Given the description of an element on the screen output the (x, y) to click on. 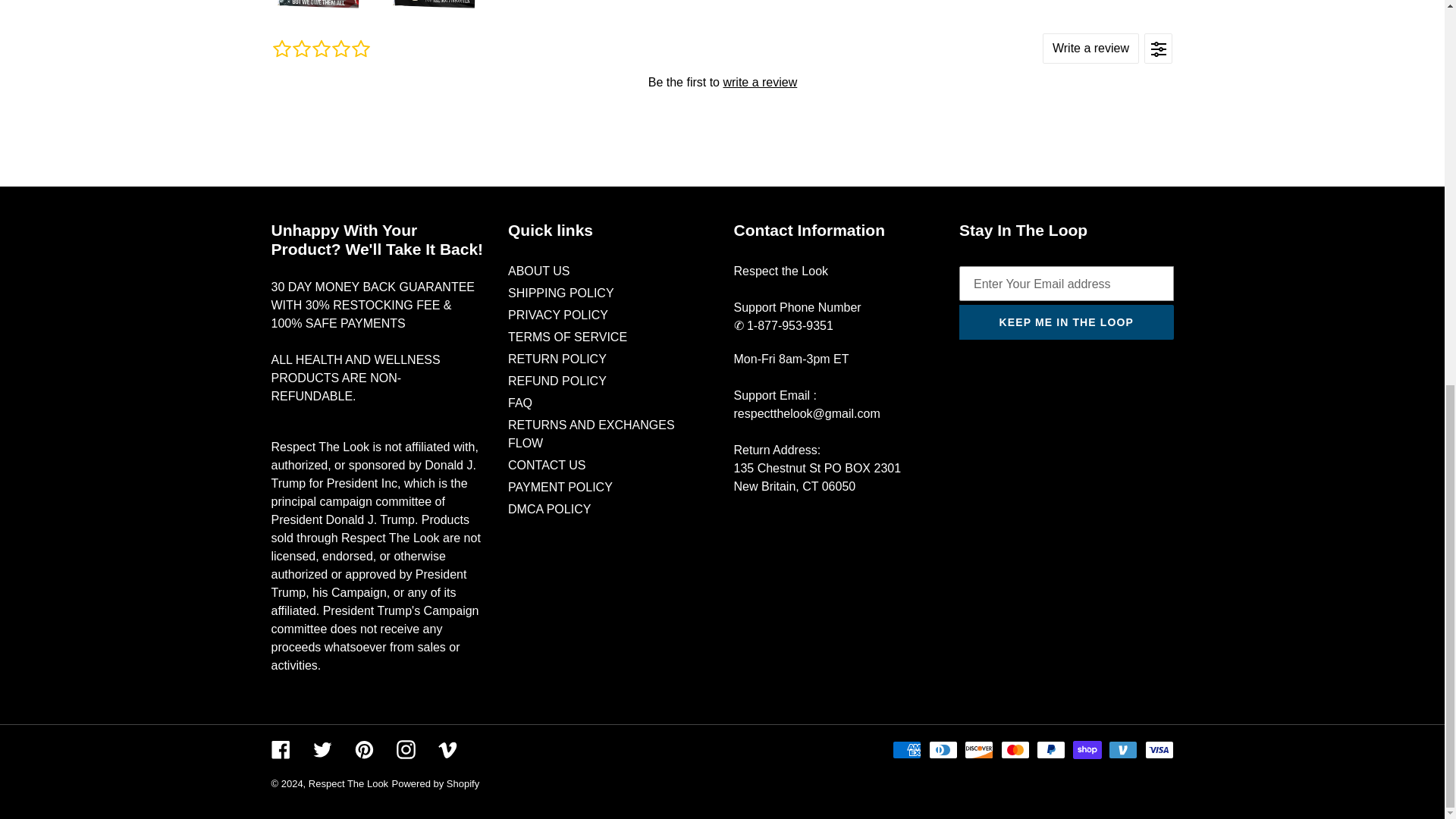
Product reviews widget (721, 81)
